Given the description of an element on the screen output the (x, y) to click on. 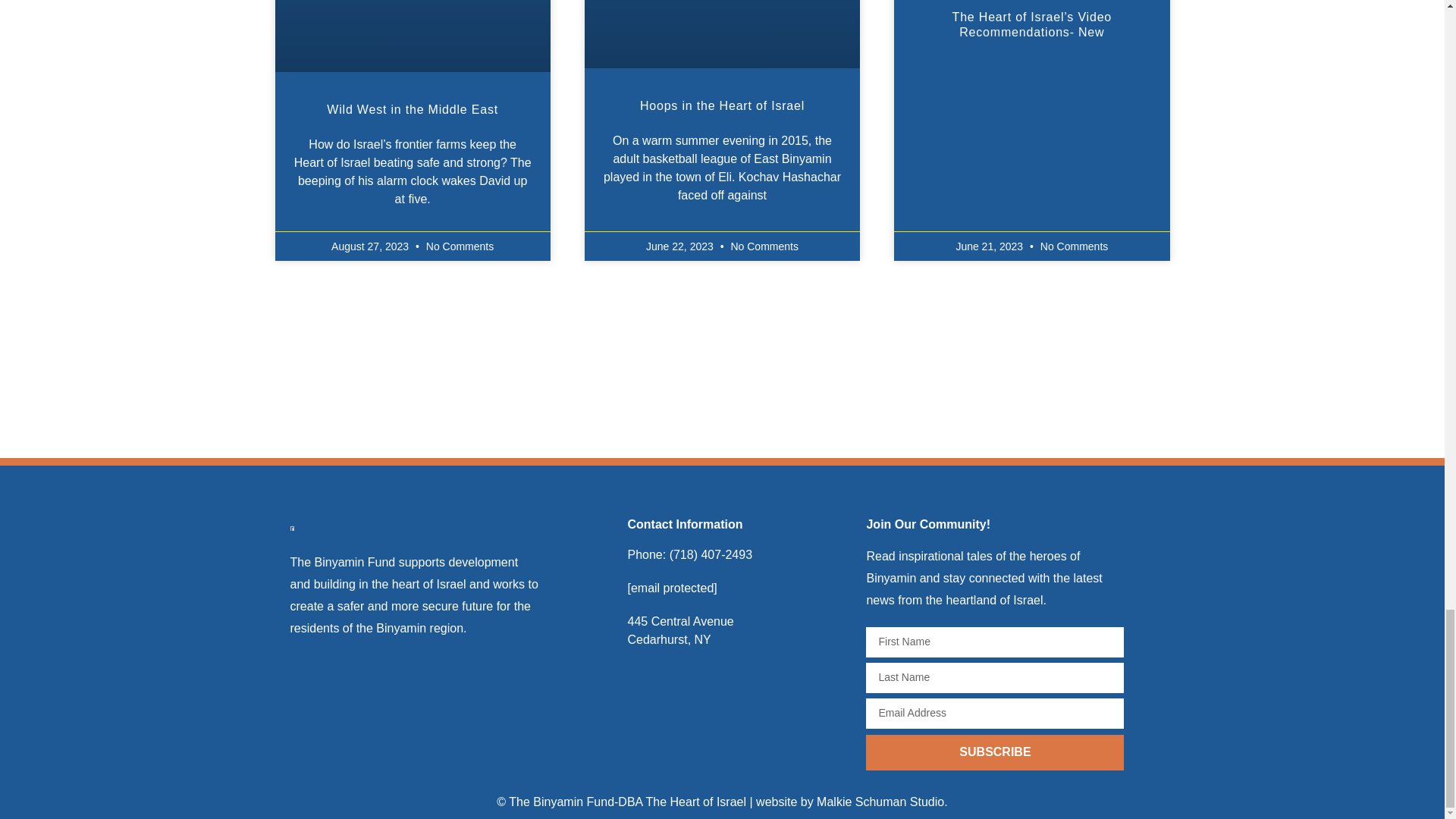
Wild West in the Middle East (411, 109)
Hoops in the Heart of Israel (722, 105)
Malkie Schuman Studio (879, 801)
SUBSCRIBE (995, 752)
